Given the description of an element on the screen output the (x, y) to click on. 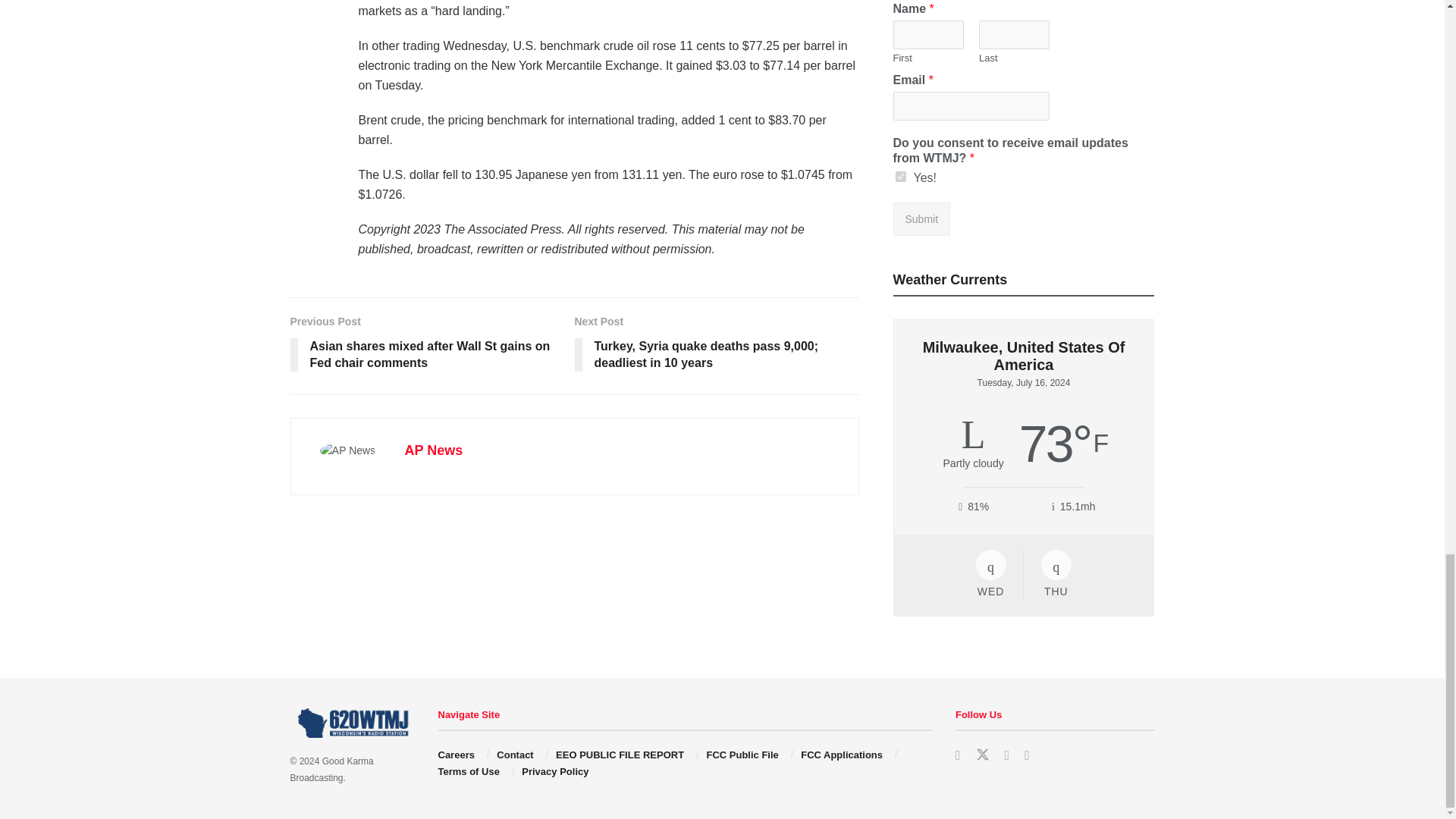
Yes! (900, 176)
